Given the description of an element on the screen output the (x, y) to click on. 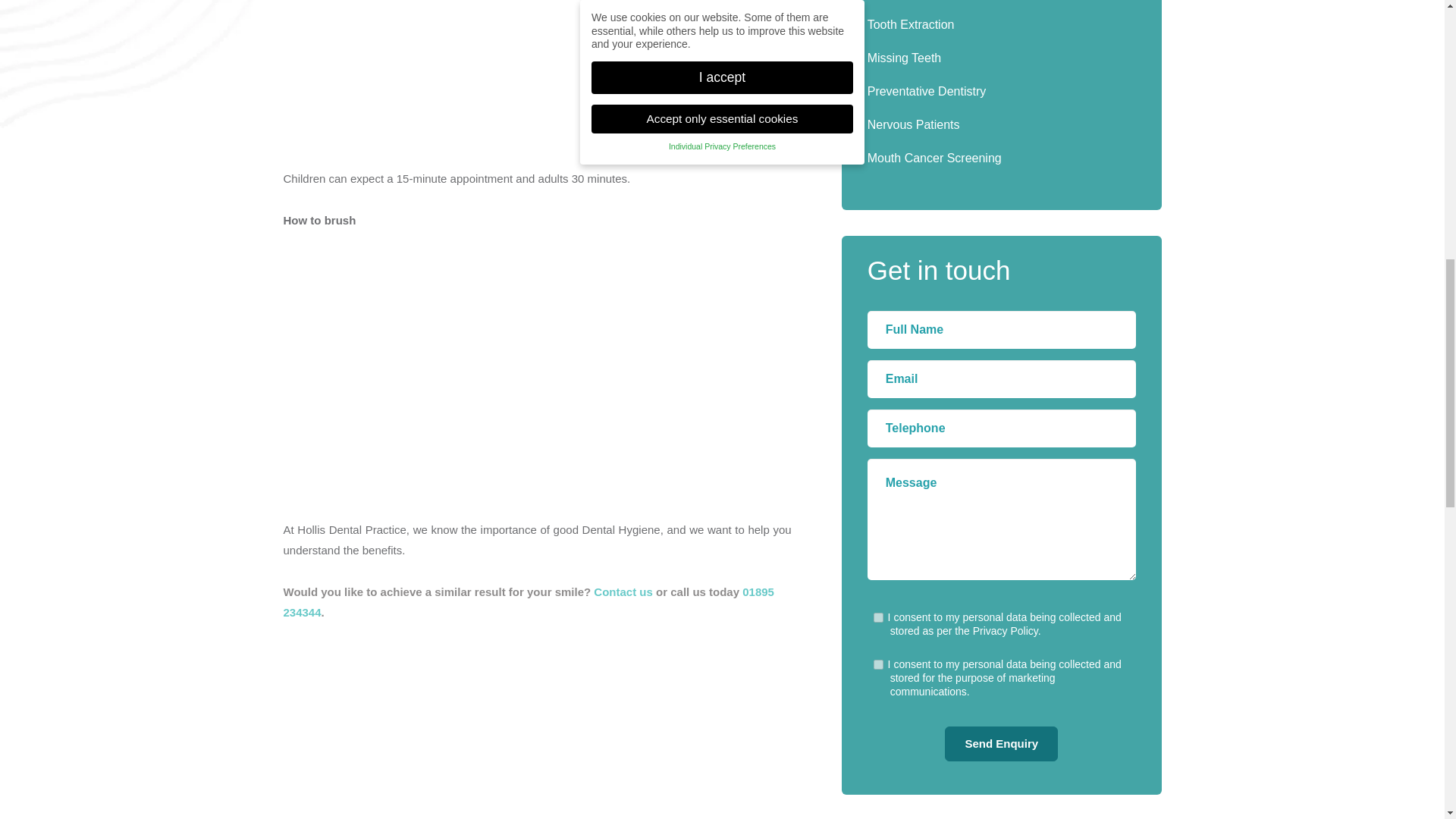
Contact us (623, 591)
01895 234344 (528, 602)
Send Enquiry (1001, 743)
